Given the description of an element on the screen output the (x, y) to click on. 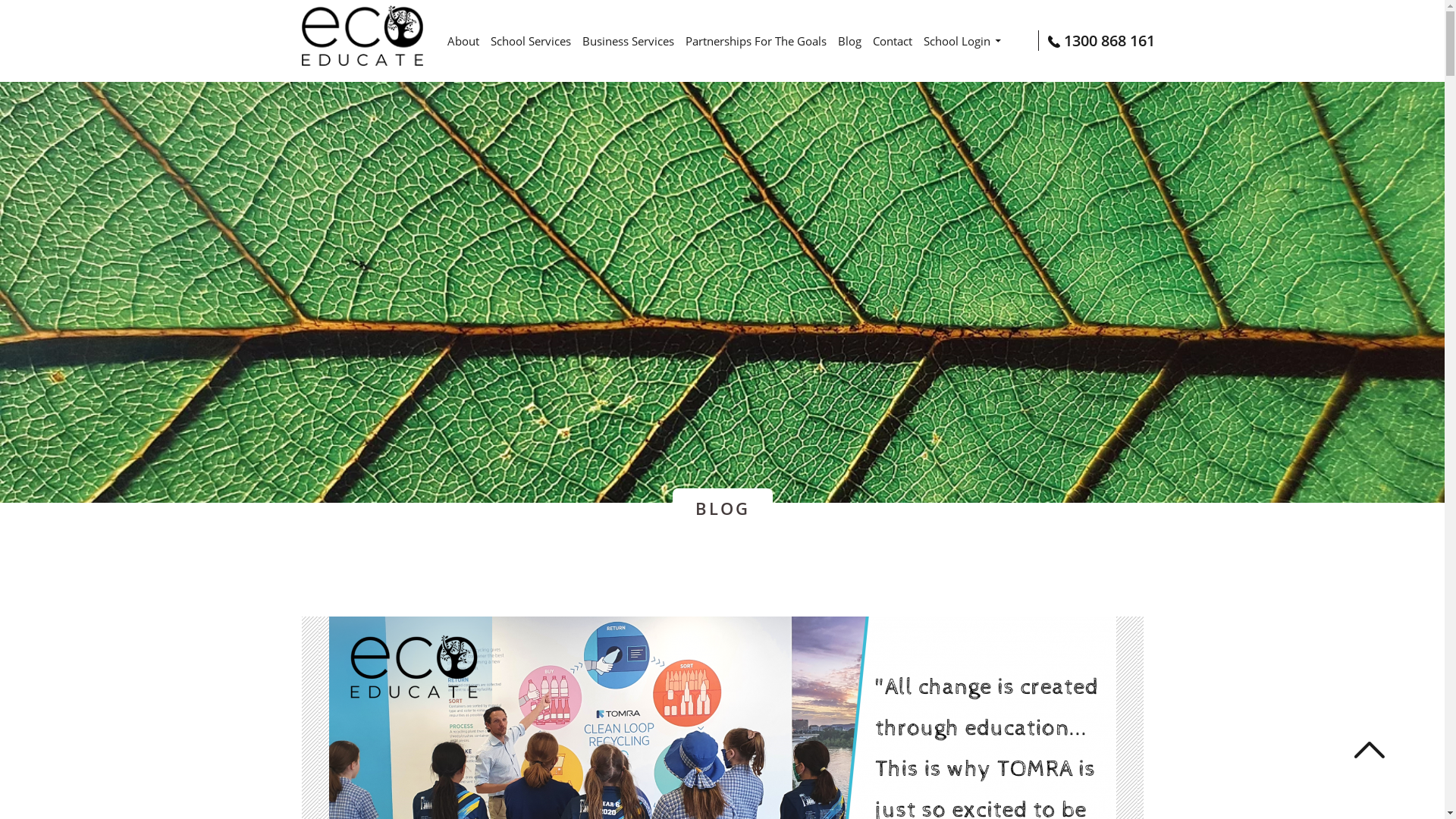
Contact Element type: text (891, 40)
1300 868 161 Element type: text (1095, 40)
About Element type: text (462, 40)
Blog Element type: text (848, 40)
Partnerships For The Goals Element type: text (755, 40)
School Login Element type: text (964, 40)
Back to top Element type: hover (1369, 751)
Business Services Element type: text (627, 40)
School Services Element type: text (529, 40)
